Given the description of an element on the screen output the (x, y) to click on. 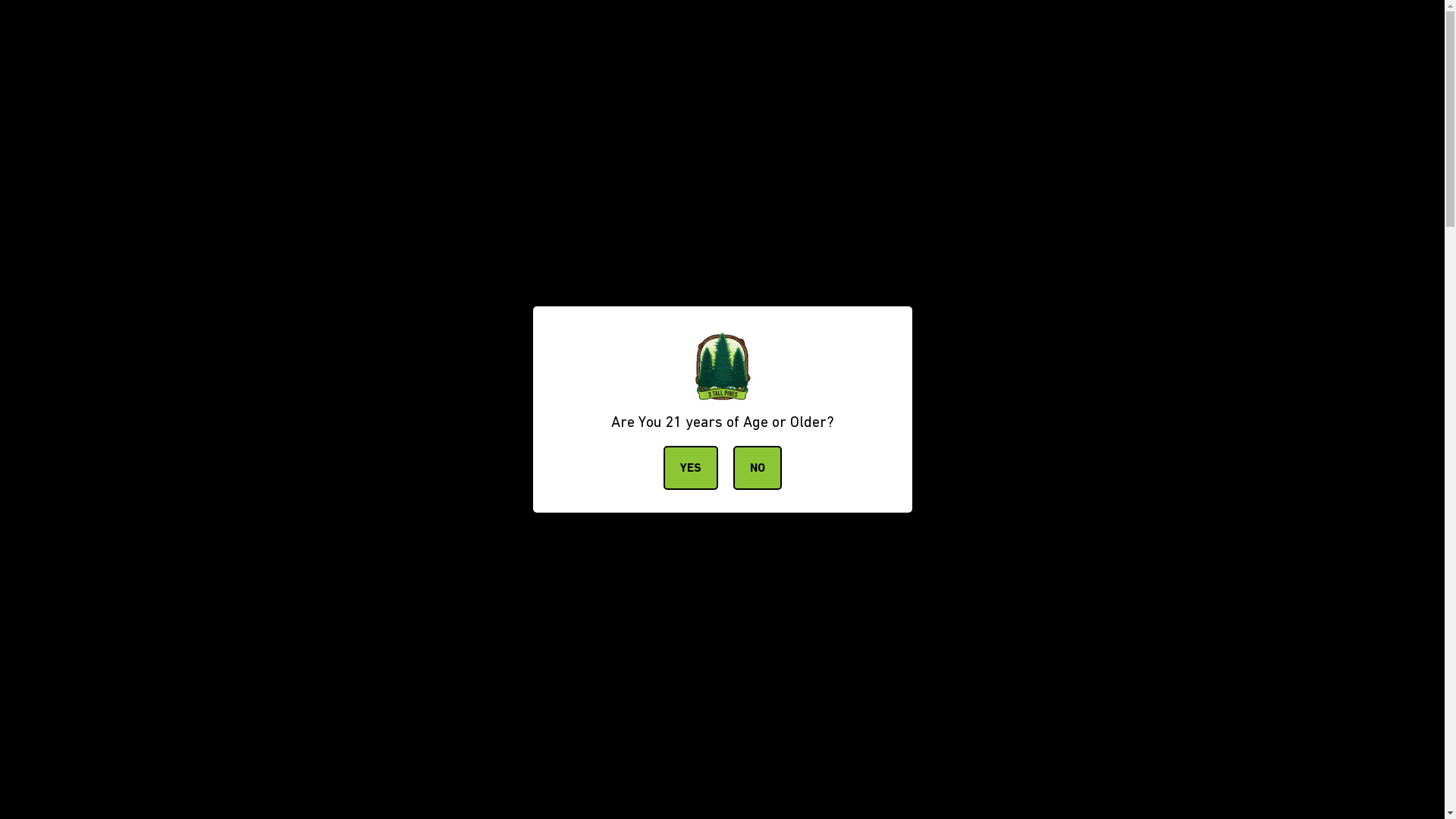
Subscriptions Login Element type: text (608, 162)
NO Element type: text (756, 467)
Home Element type: text (204, 215)
Home Element type: text (445, 162)
3 Tall Pines Farm Element type: text (223, 92)
My account Element type: text (1098, 101)
Contact Element type: text (335, 162)
All products Element type: text (260, 215)
Decrease quantity by 1 Element type: hover (831, 501)
Press Element type: text (703, 162)
YES Element type: text (689, 467)
Add to cart Element type: text (871, 723)
Blog Element type: text (276, 162)
About Us Element type: text (214, 162)
No reviews Element type: text (817, 309)
Wholesale Element type: text (773, 162)
0
Cart Element type: text (1221, 93)
Increase quantity by 1 Element type: hover (912, 501)
Shop Element type: text (508, 162)
FAQ Element type: text (392, 162)
Buy it now Element type: text (1115, 723)
